Given the description of an element on the screen output the (x, y) to click on. 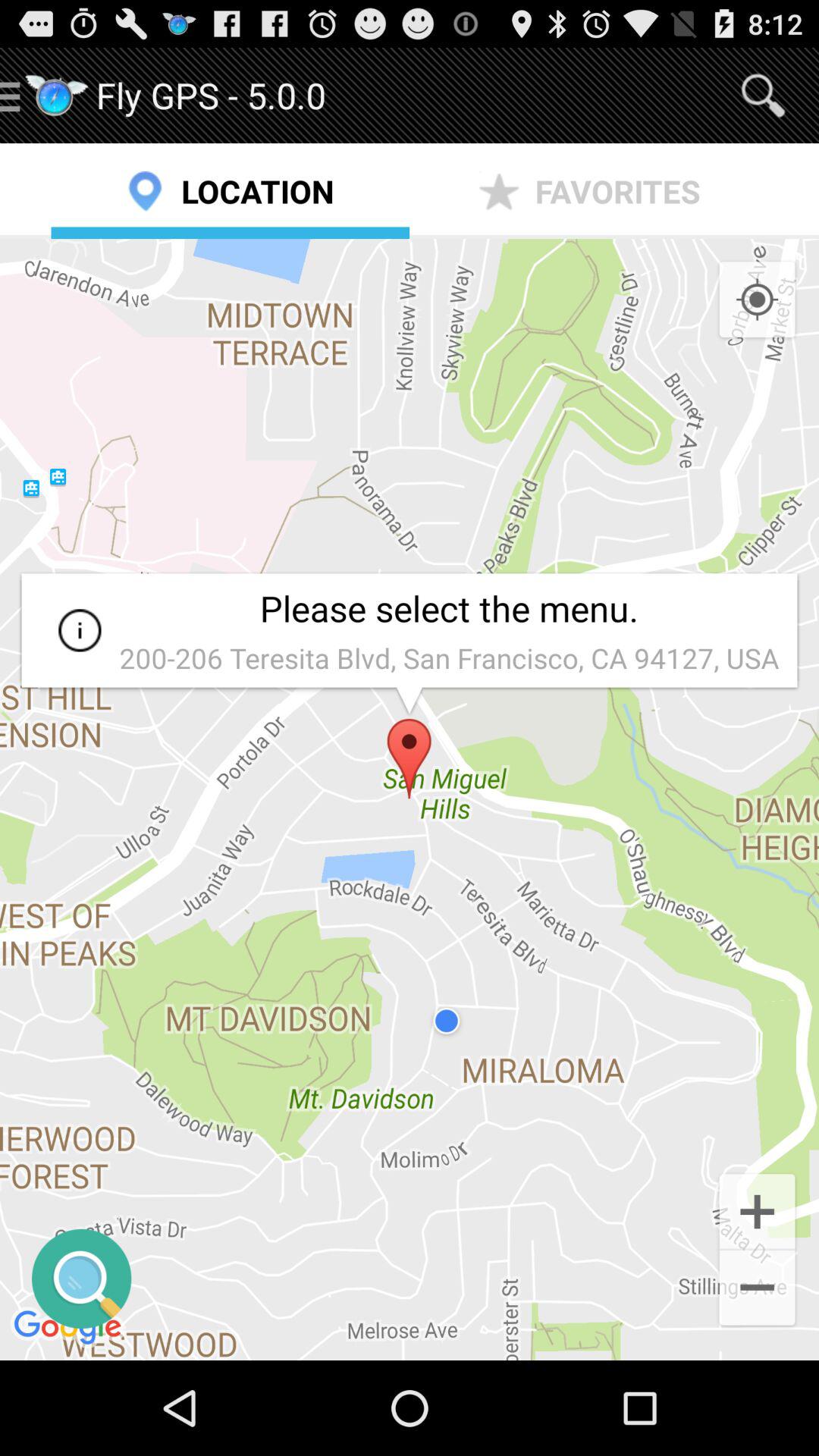
click app below the location item (409, 799)
